Given the description of an element on the screen output the (x, y) to click on. 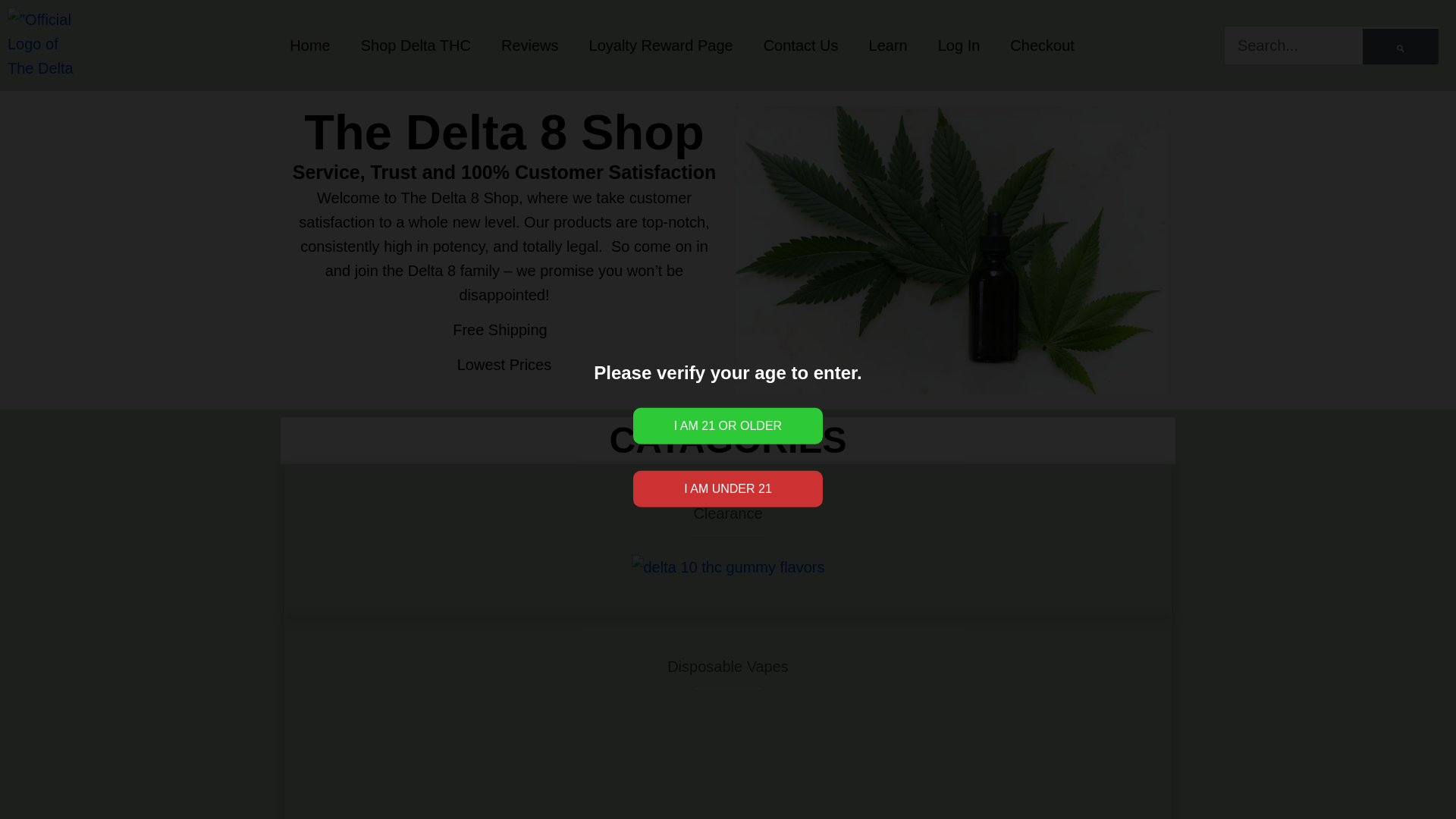
Home (310, 45)
I am under 21 (727, 488)
I am 21 or older (727, 425)
Clearance (727, 513)
Reviews (529, 45)
Loyalty Reward Page (660, 45)
Shop Delta THC (416, 45)
Checkout (1041, 45)
Disposable Vapes (727, 666)
Learn (888, 45)
